Given the description of an element on the screen output the (x, y) to click on. 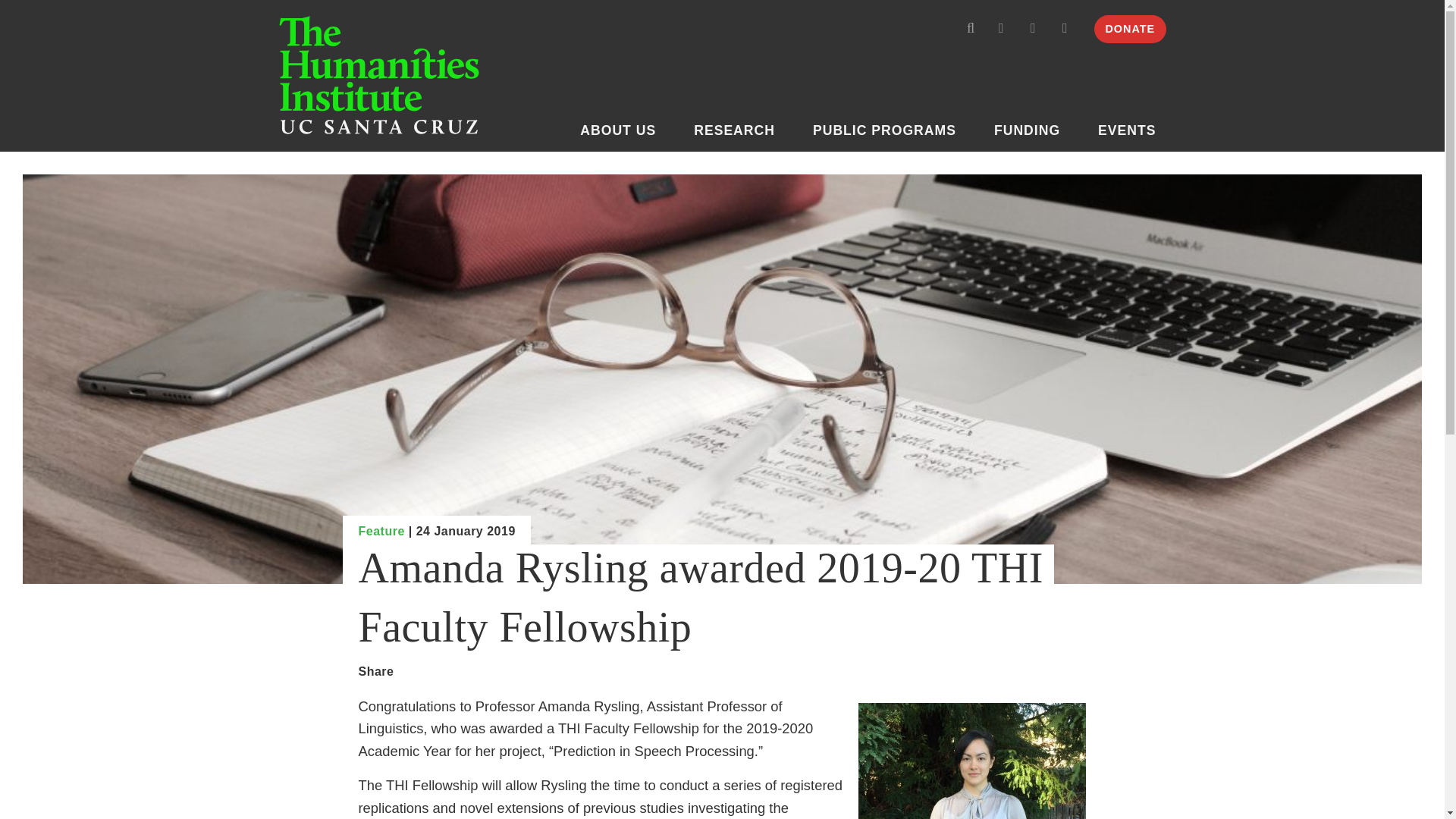
DONATE (1130, 29)
PUBLIC PROGRAMS (890, 134)
RESEARCH (741, 134)
FUNDING (1034, 134)
EVENTS (1133, 134)
ABOUT US (624, 134)
